Given the description of an element on the screen output the (x, y) to click on. 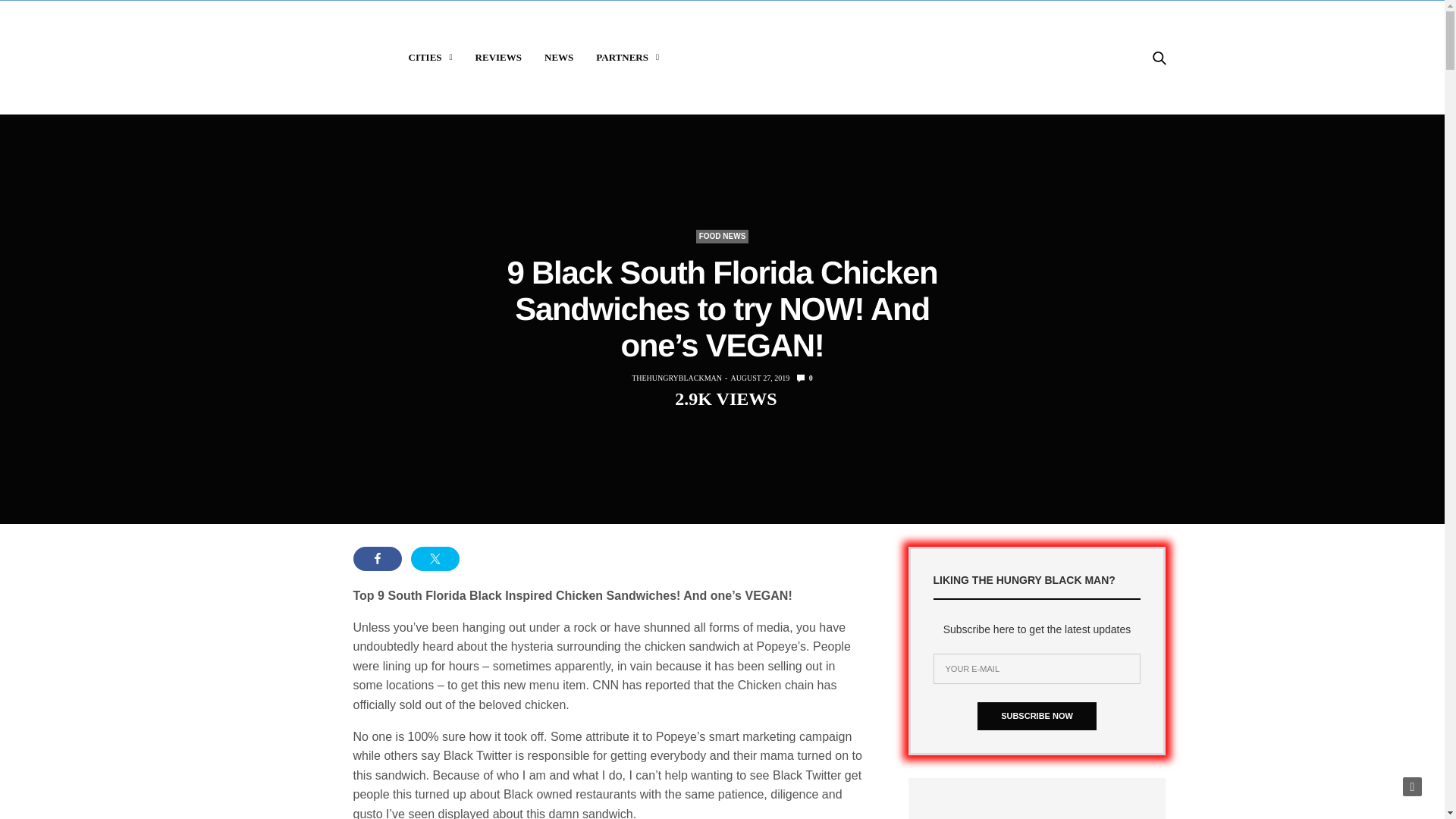
NEWS (558, 57)
Posts by thehungryblackman (676, 378)
Food News (722, 236)
Share on Facebook (377, 558)
CITIES (429, 57)
PARTNERS (627, 57)
REVIEWS (498, 57)
Share on Twitter (435, 558)
Search (1137, 135)
